Given the description of an element on the screen output the (x, y) to click on. 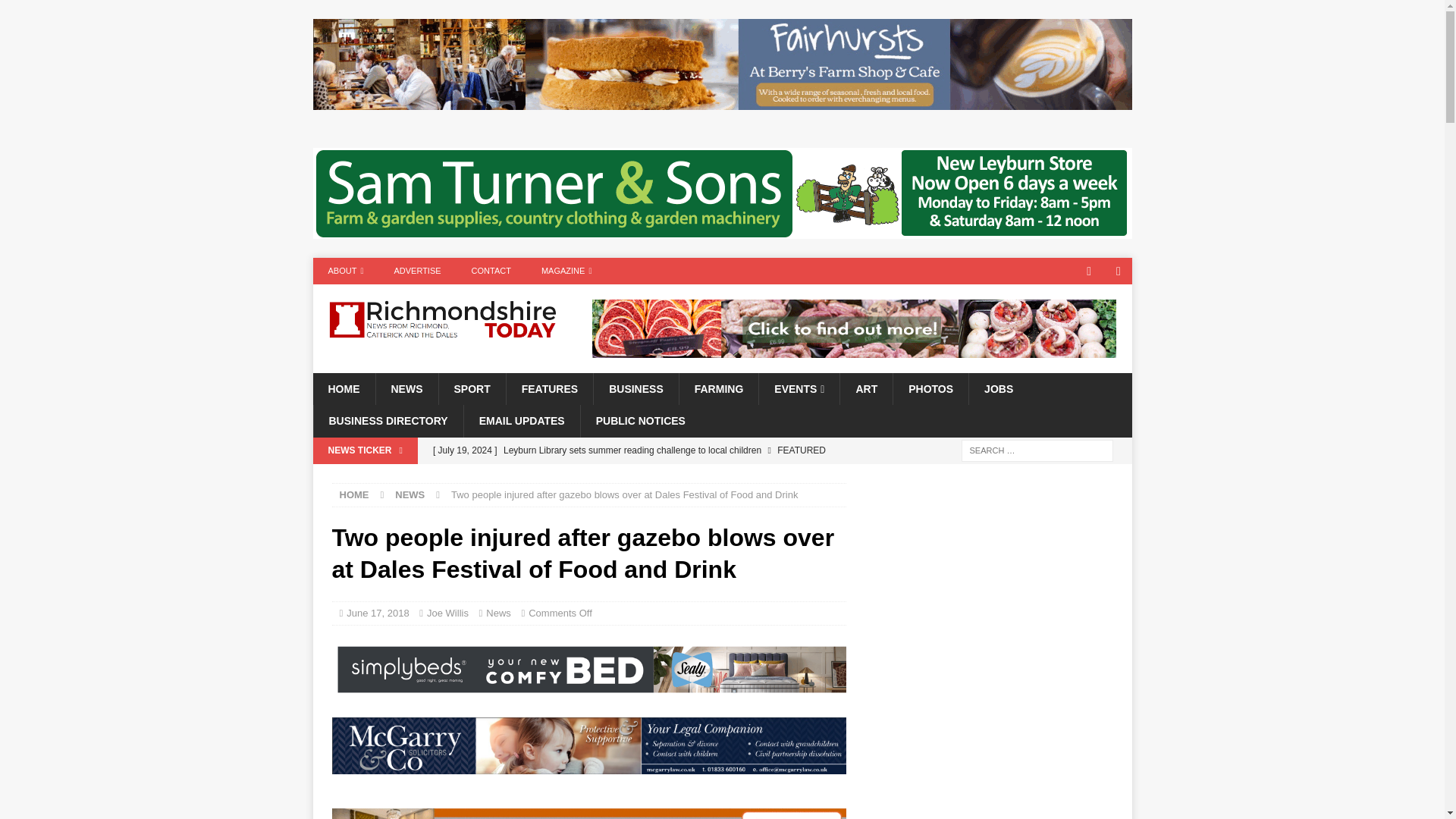
MAGAZINE (566, 270)
ABOUT (345, 270)
ADVERTISE (416, 270)
CONTACT (491, 270)
